Given the description of an element on the screen output the (x, y) to click on. 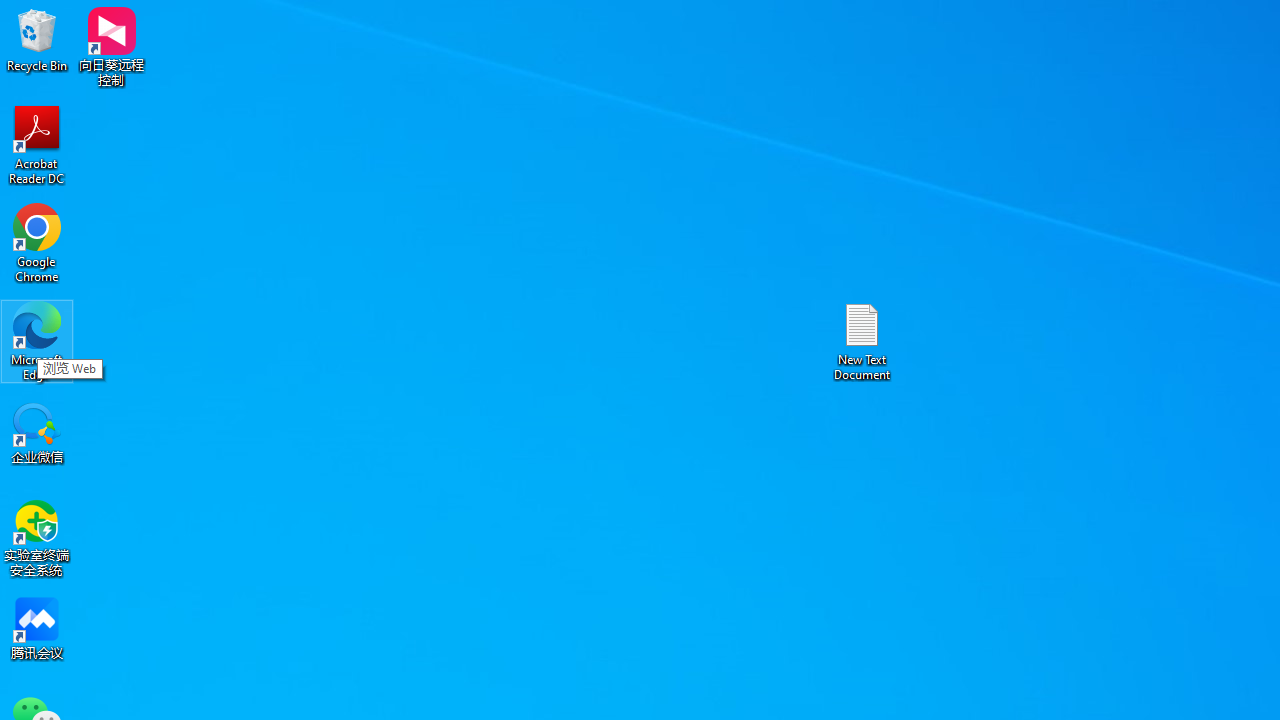
Recycle Bin (37, 39)
Microsoft Edge (37, 340)
Acrobat Reader DC (37, 144)
Google Chrome (37, 242)
New Text Document (861, 340)
